Given the description of an element on the screen output the (x, y) to click on. 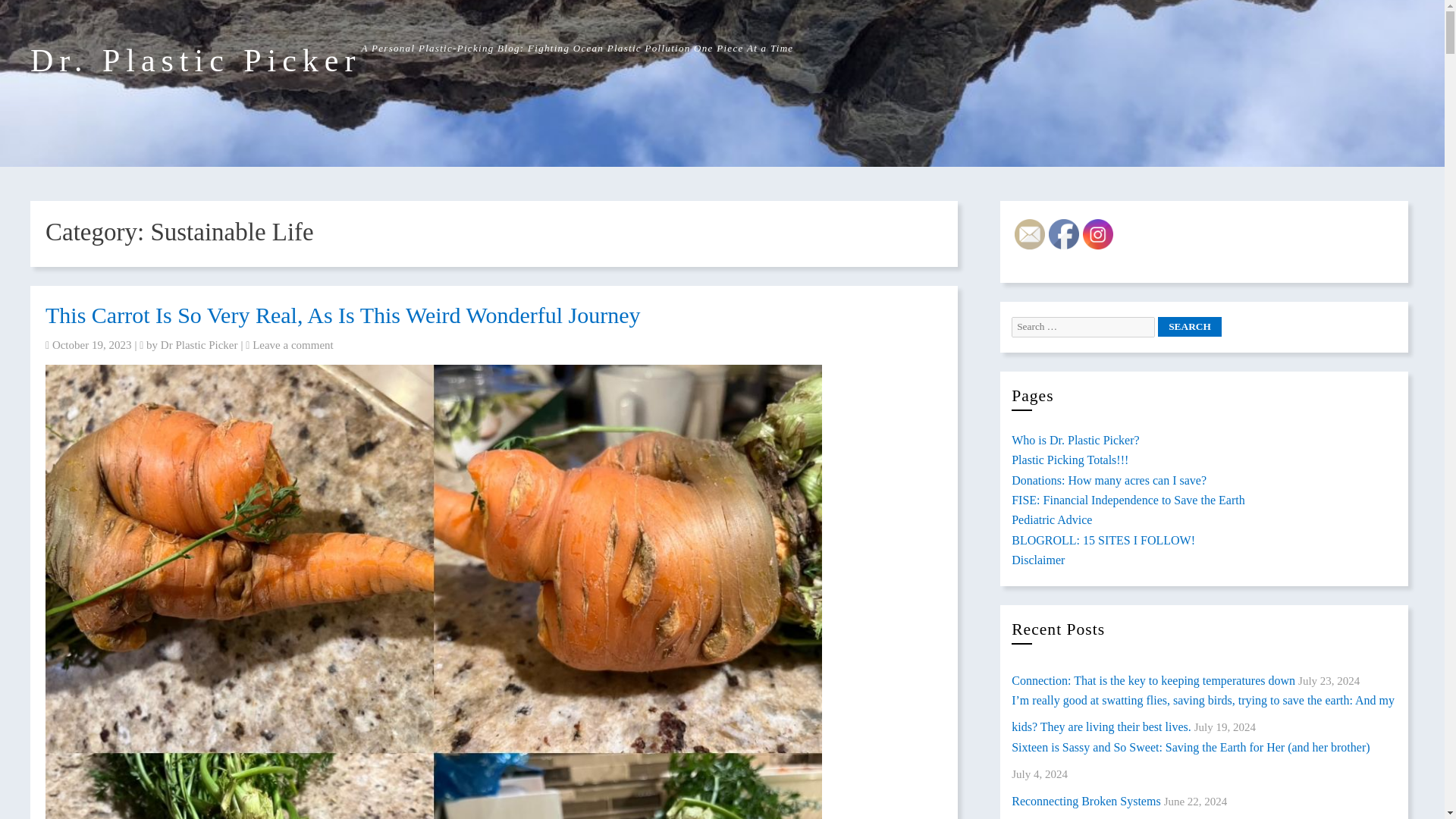
Dr. Plastic Picker (195, 60)
Follow by Email (1029, 234)
Leave a comment (292, 345)
Dr Plastic Picker (199, 345)
Instagram (1098, 234)
Facebook (1063, 234)
Search (1189, 326)
